Given the description of an element on the screen output the (x, y) to click on. 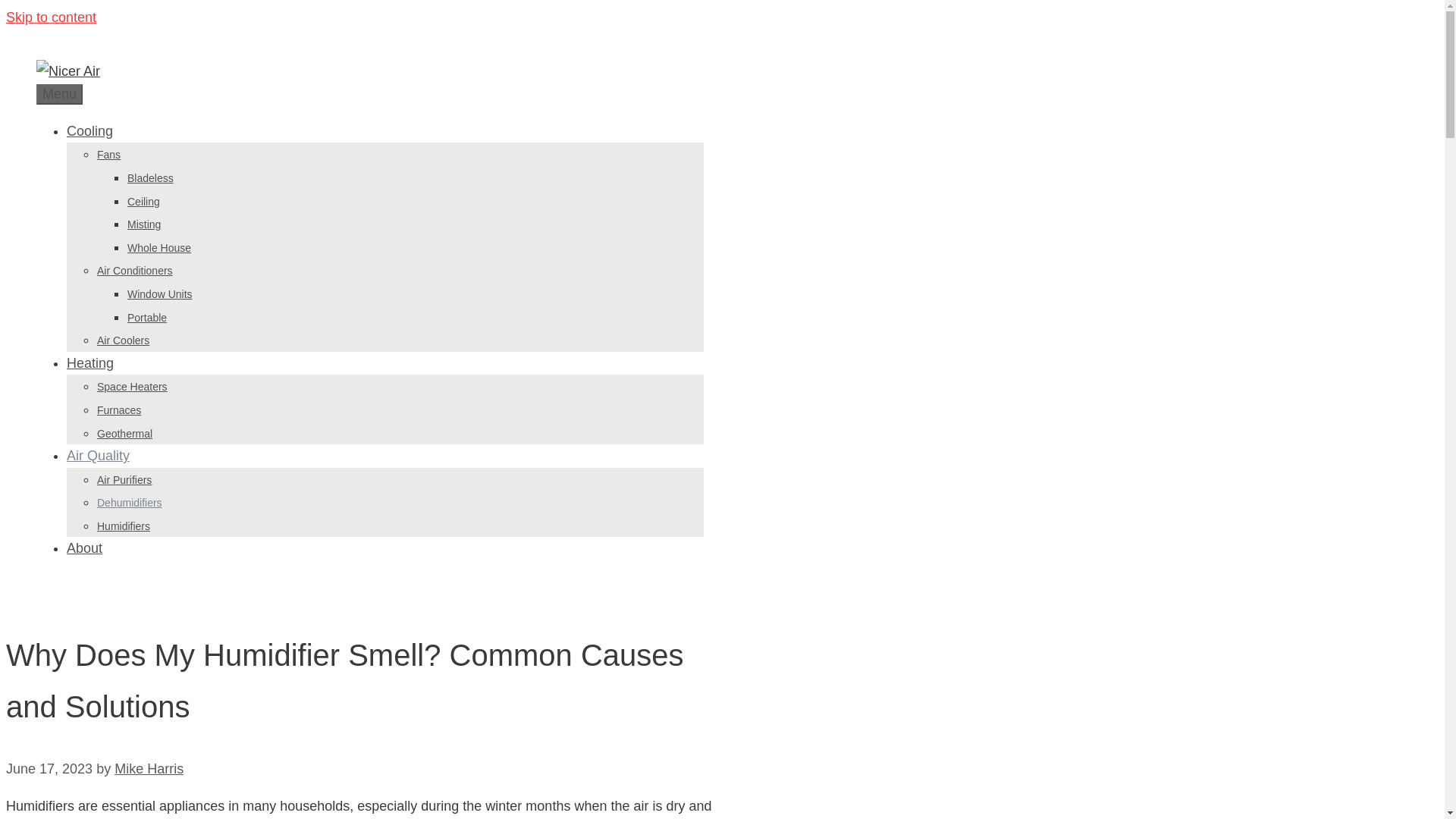
Cooling (89, 130)
View all posts by Mike Harris (149, 768)
Ceiling (144, 201)
Skip to content (50, 17)
Furnaces (119, 410)
Air Coolers (123, 340)
Mike Harris (149, 768)
Space Heaters (132, 386)
Whole House (159, 247)
Window Units (160, 294)
